Given the description of an element on the screen output the (x, y) to click on. 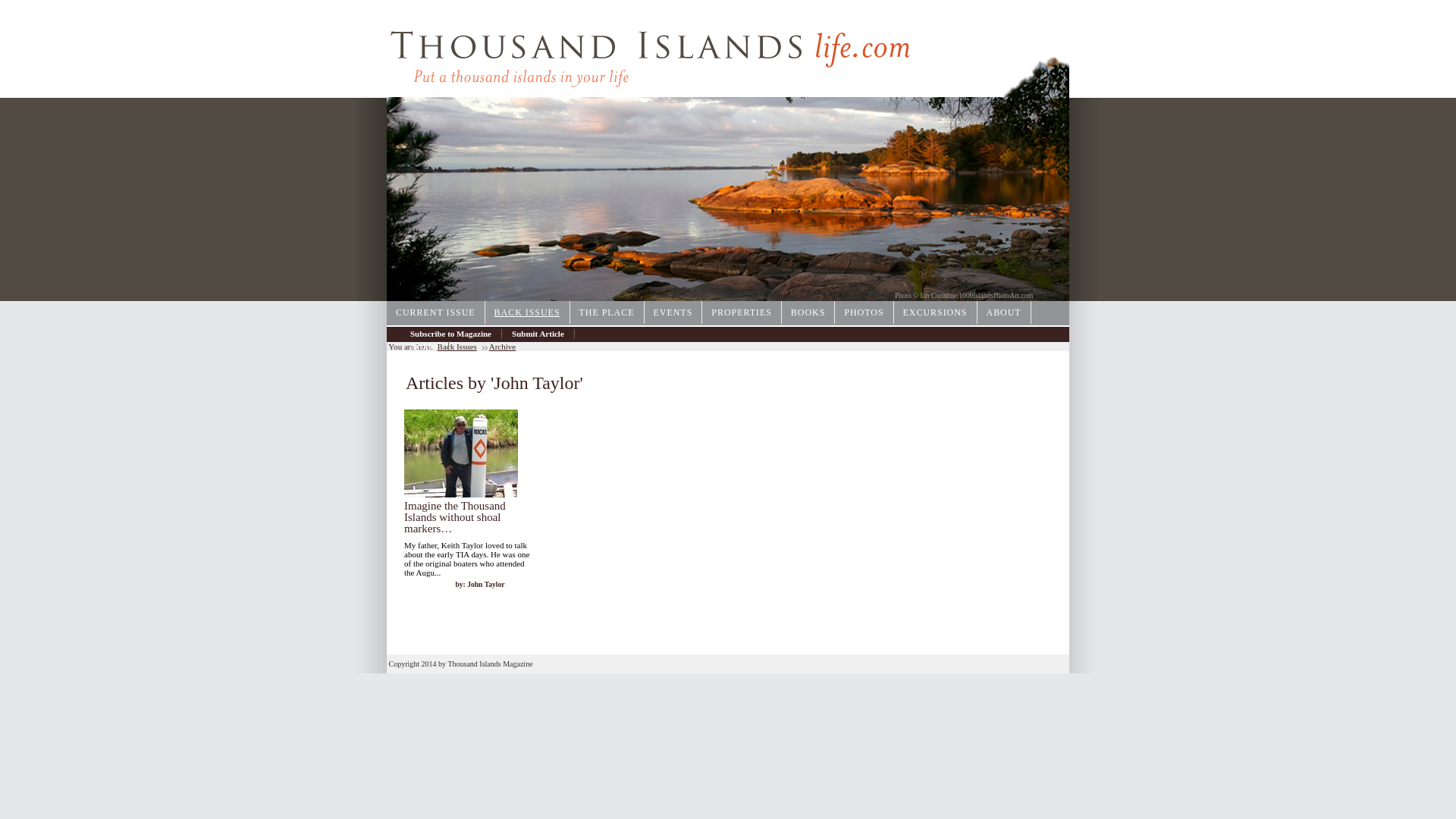
Submit Article (537, 333)
BOOKS (807, 312)
ABOUT (1003, 312)
CURRENT ISSUE (435, 312)
Archive (502, 346)
BACK ISSUES (527, 312)
PROPERTIES (741, 312)
THE PLACE (607, 312)
Archive (424, 345)
Subscribe to Magazine (451, 333)
EVENTS (674, 312)
1000IslandsPhotoArt.com (996, 295)
Back Issues (457, 346)
EXCURSIONS (934, 312)
PHOTOS (863, 312)
